Given the description of an element on the screen output the (x, y) to click on. 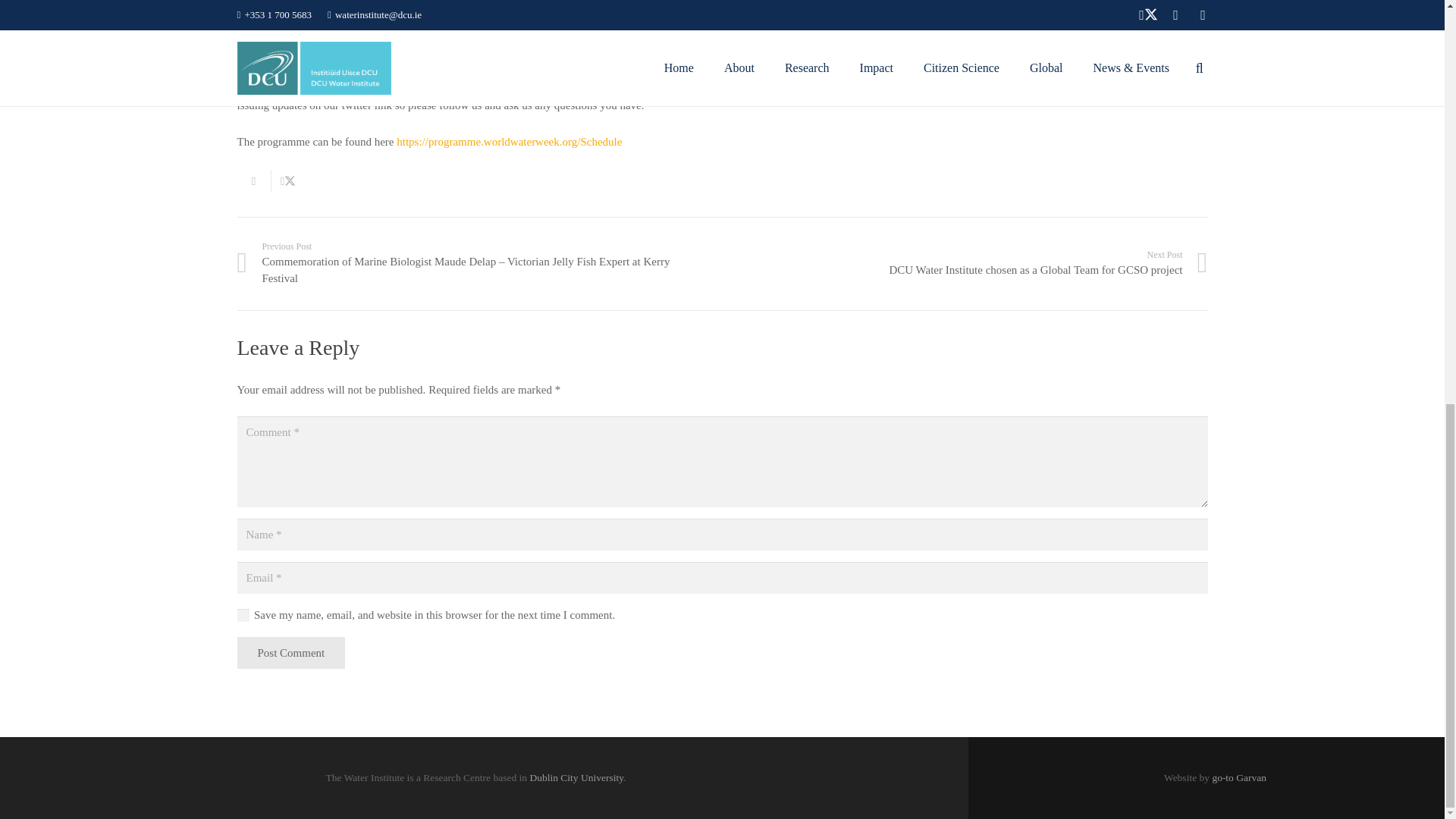
DCU Water Institute chosen as a Global Team for GCSO project (964, 263)
Tweet this (287, 180)
Back to top (1413, 48)
1 (241, 615)
Share this (252, 180)
